Given the description of an element on the screen output the (x, y) to click on. 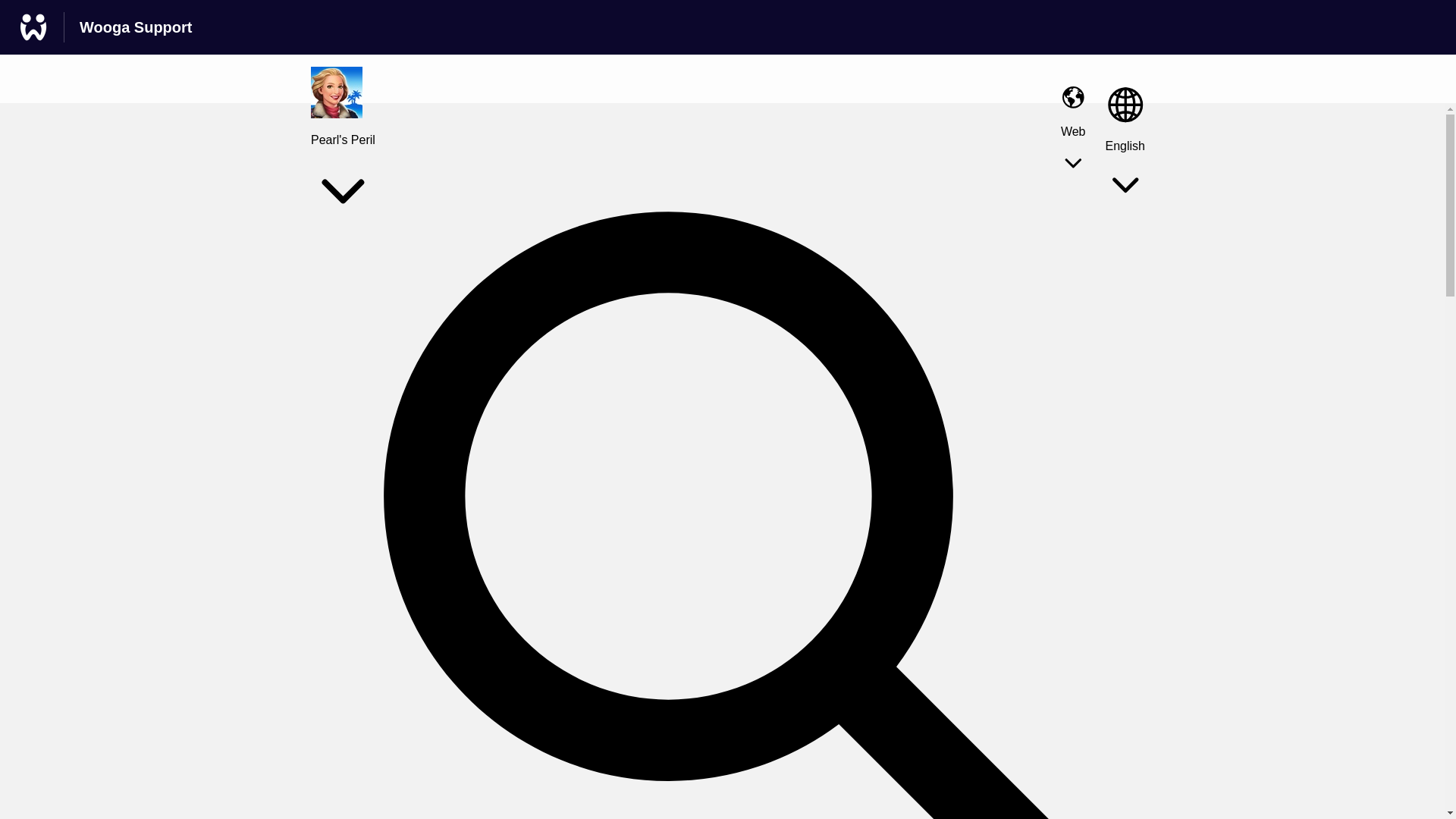
Wooga Support (136, 27)
